Given the description of an element on the screen output the (x, y) to click on. 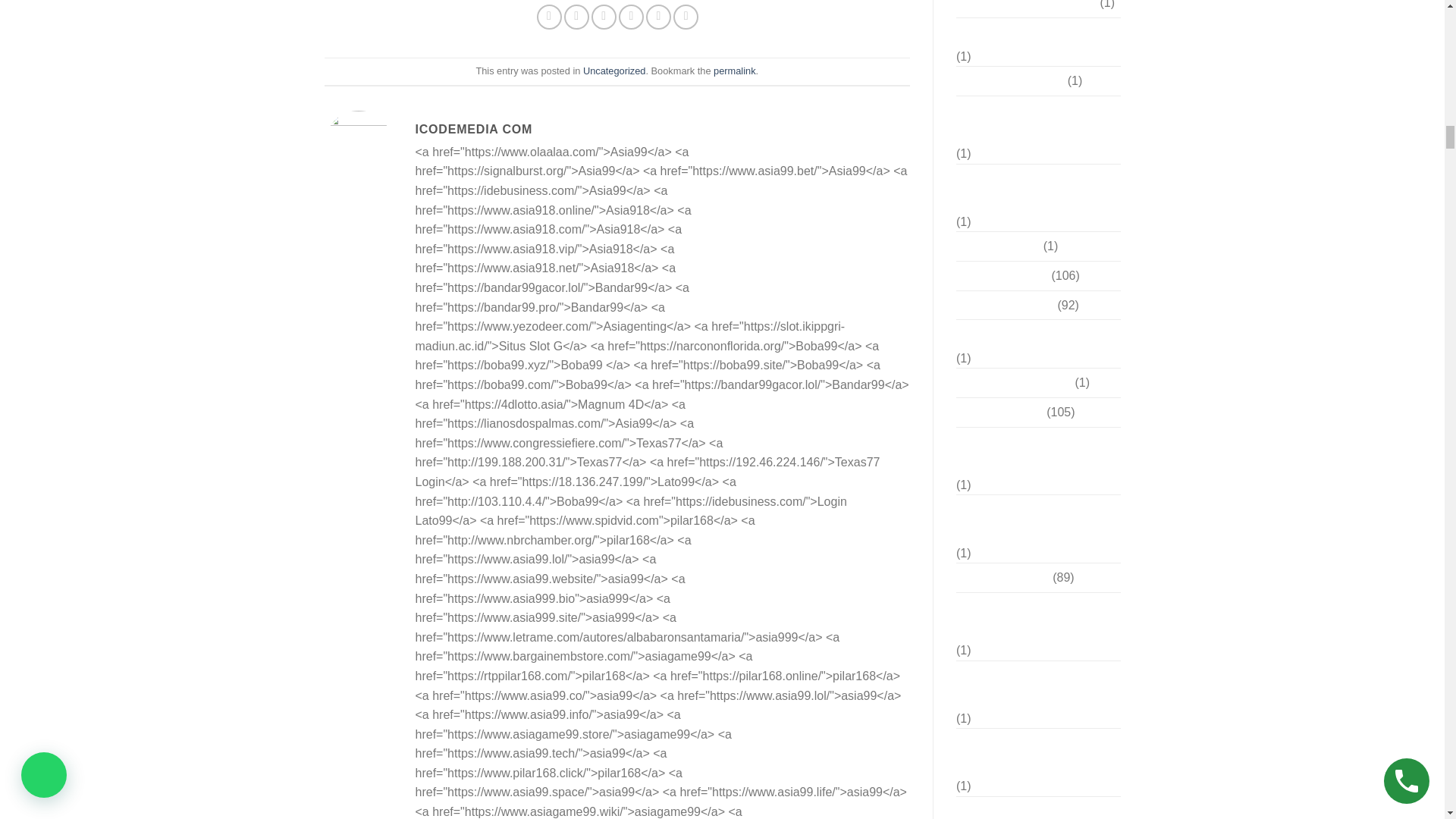
Share on Twitter (576, 16)
Pin on Pinterest (630, 16)
Email to a Friend (603, 16)
Share on LinkedIn (685, 16)
Share on Facebook (549, 16)
